Given the description of an element on the screen output the (x, y) to click on. 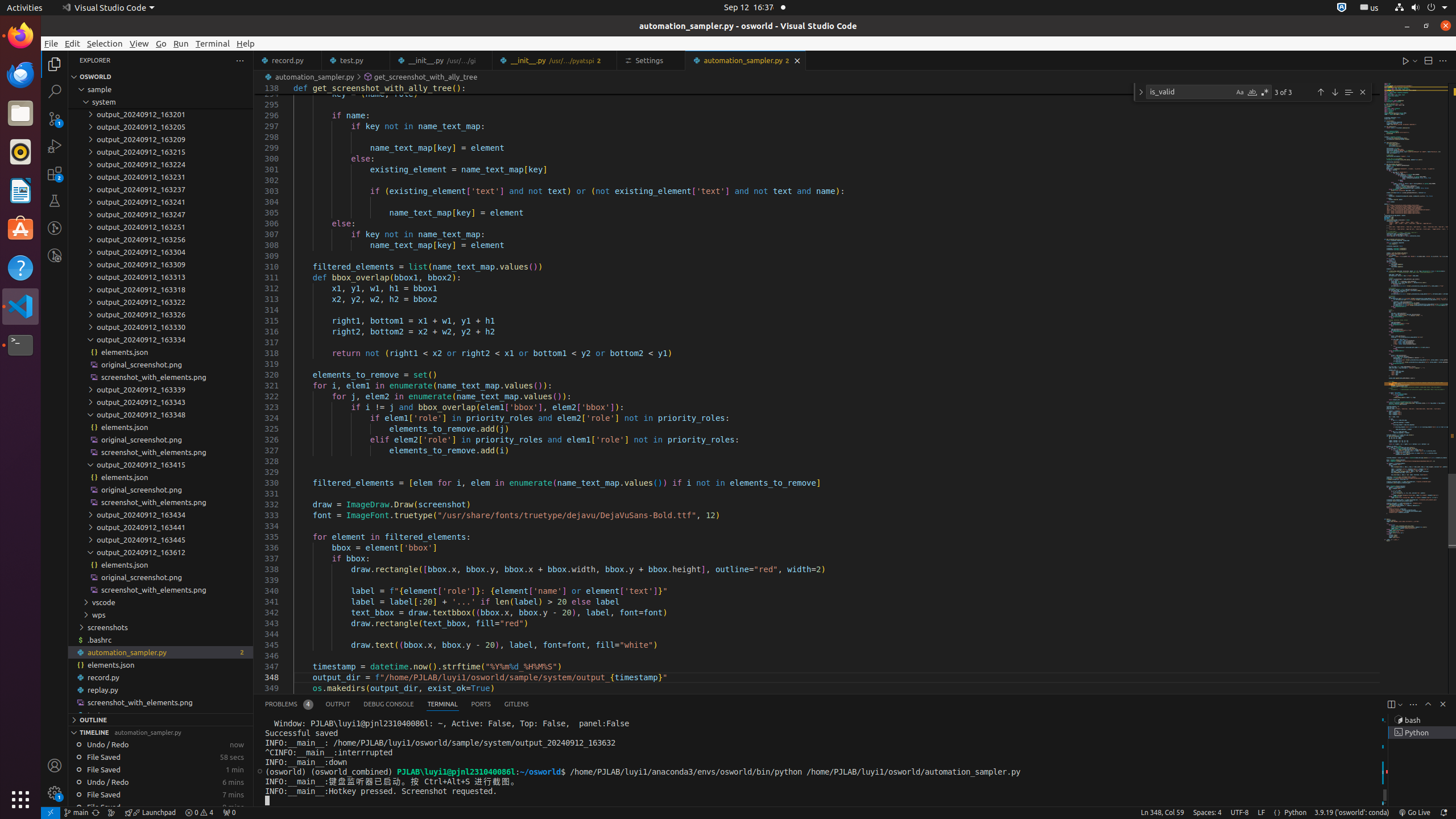
Selection Element type: push-button (104, 43)
automation_sampler.py Element type: page-tab (745, 60)
elements.json Element type: tree-item (160, 664)
Launch Profile... Element type: push-button (1399, 703)
Settings Element type: page-tab (651, 60)
